Given the description of an element on the screen output the (x, y) to click on. 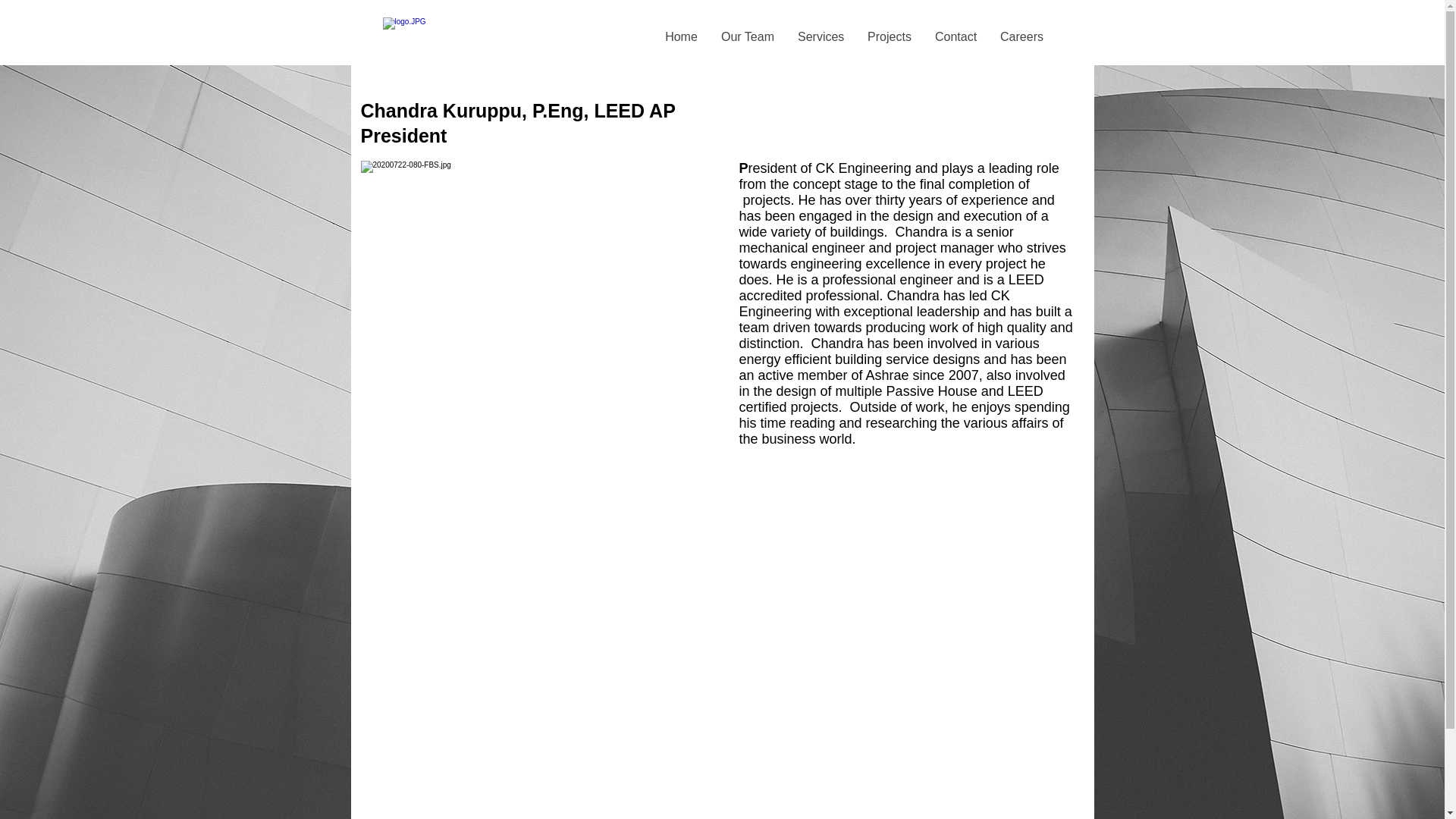
Contact (955, 36)
Home (681, 36)
Services (821, 36)
Our Team (748, 36)
Projects (889, 36)
Careers (1021, 36)
